Given the description of an element on the screen output the (x, y) to click on. 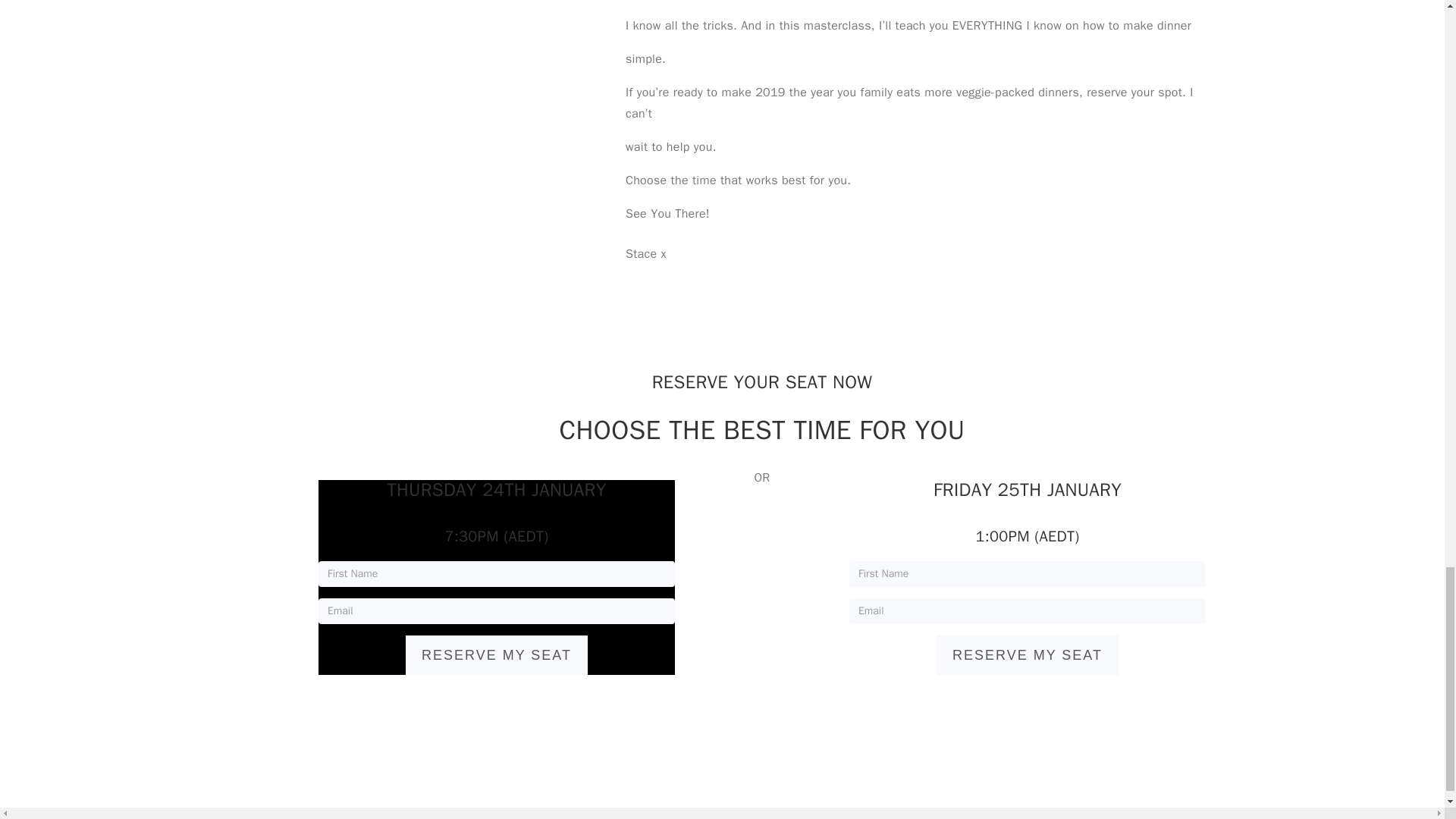
Reserve My Seat (1027, 654)
Reserve My Seat (1027, 654)
Reserve My Seat (497, 654)
Reserve My Seat (497, 654)
